Given the description of an element on the screen output the (x, y) to click on. 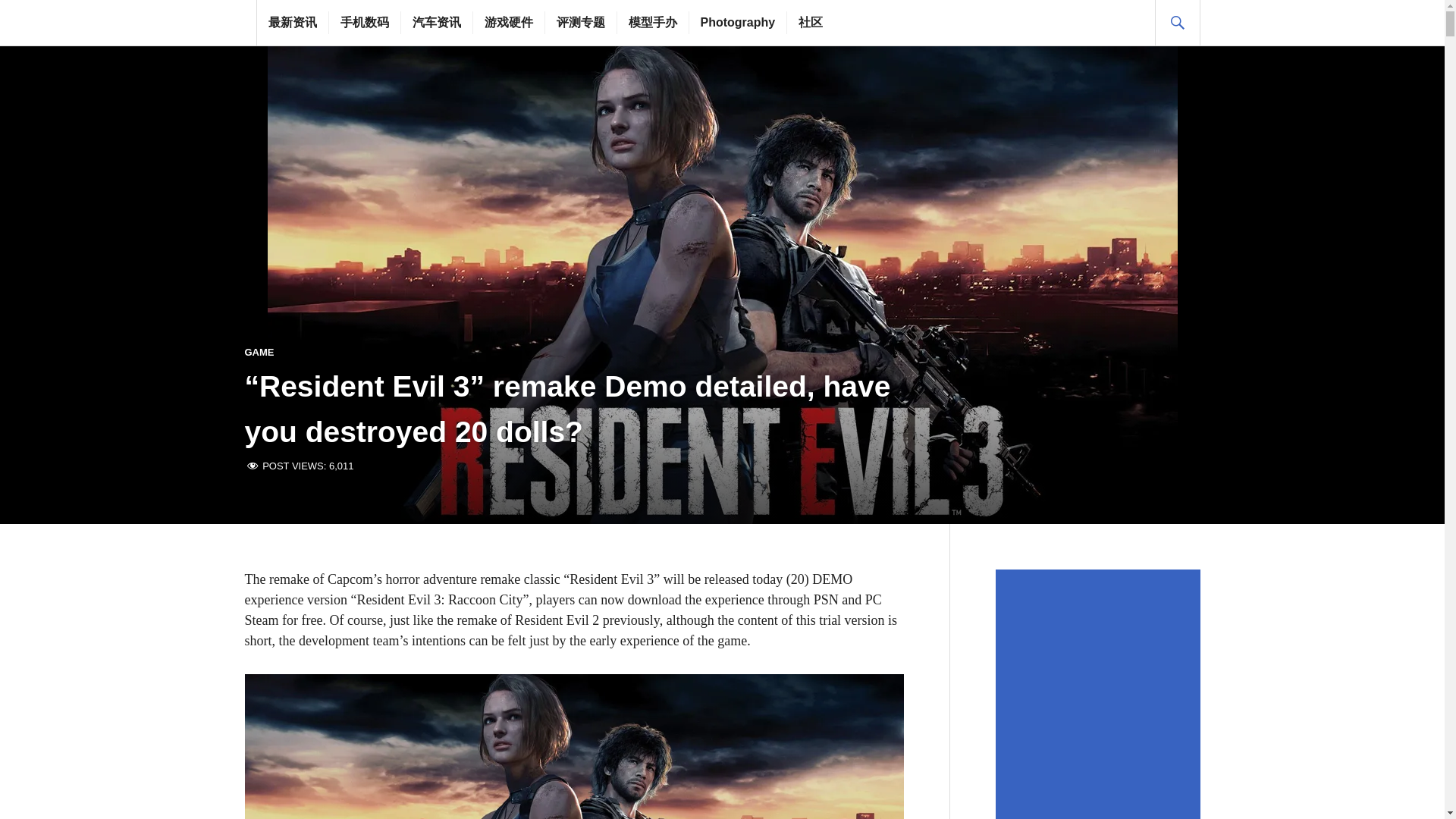
GAME (258, 351)
Photography (738, 22)
Advertisement (1099, 694)
